Given the description of an element on the screen output the (x, y) to click on. 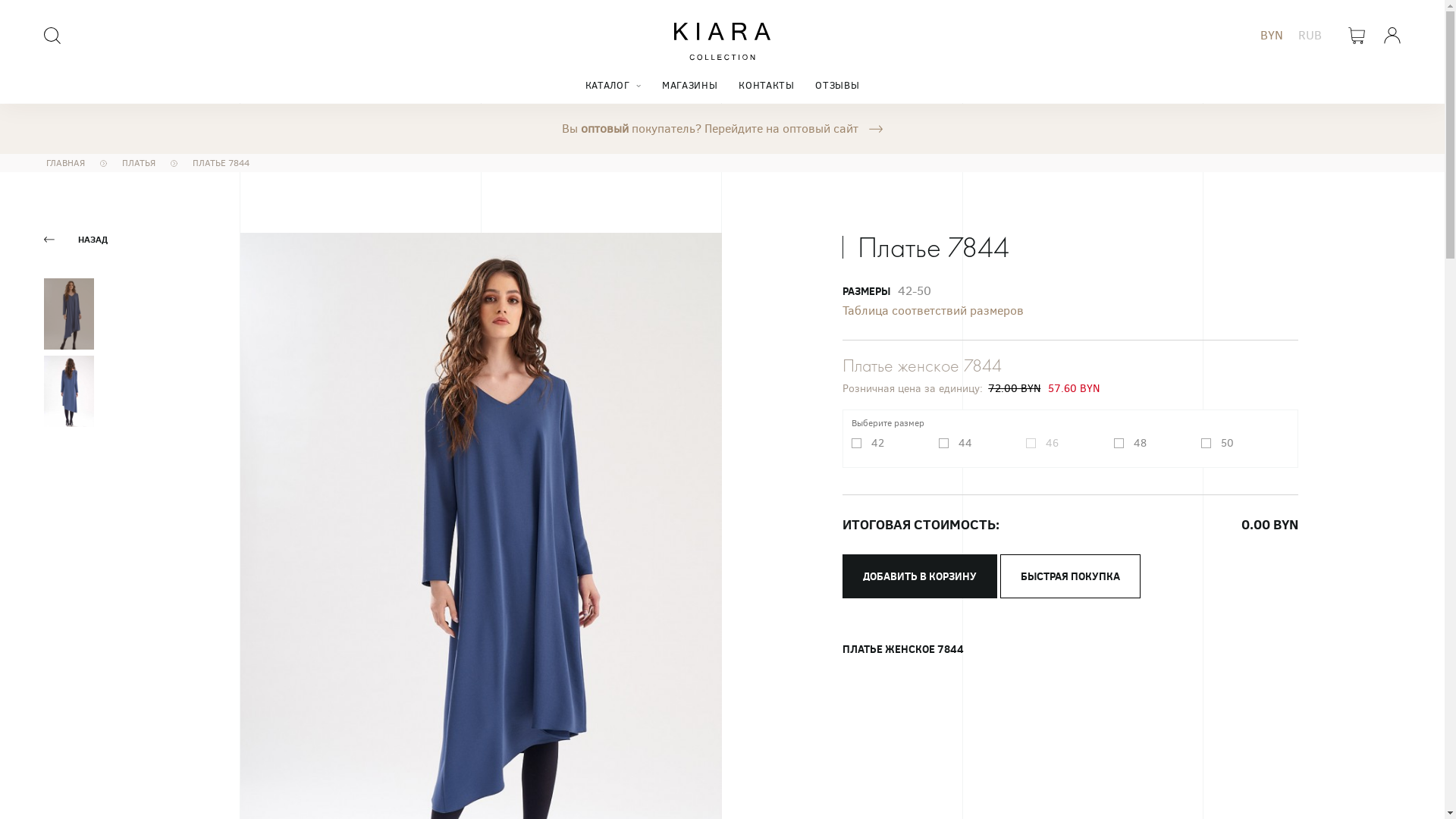
BYN Element type: text (1271, 35)
RUB Element type: text (1309, 35)
